Given the description of an element on the screen output the (x, y) to click on. 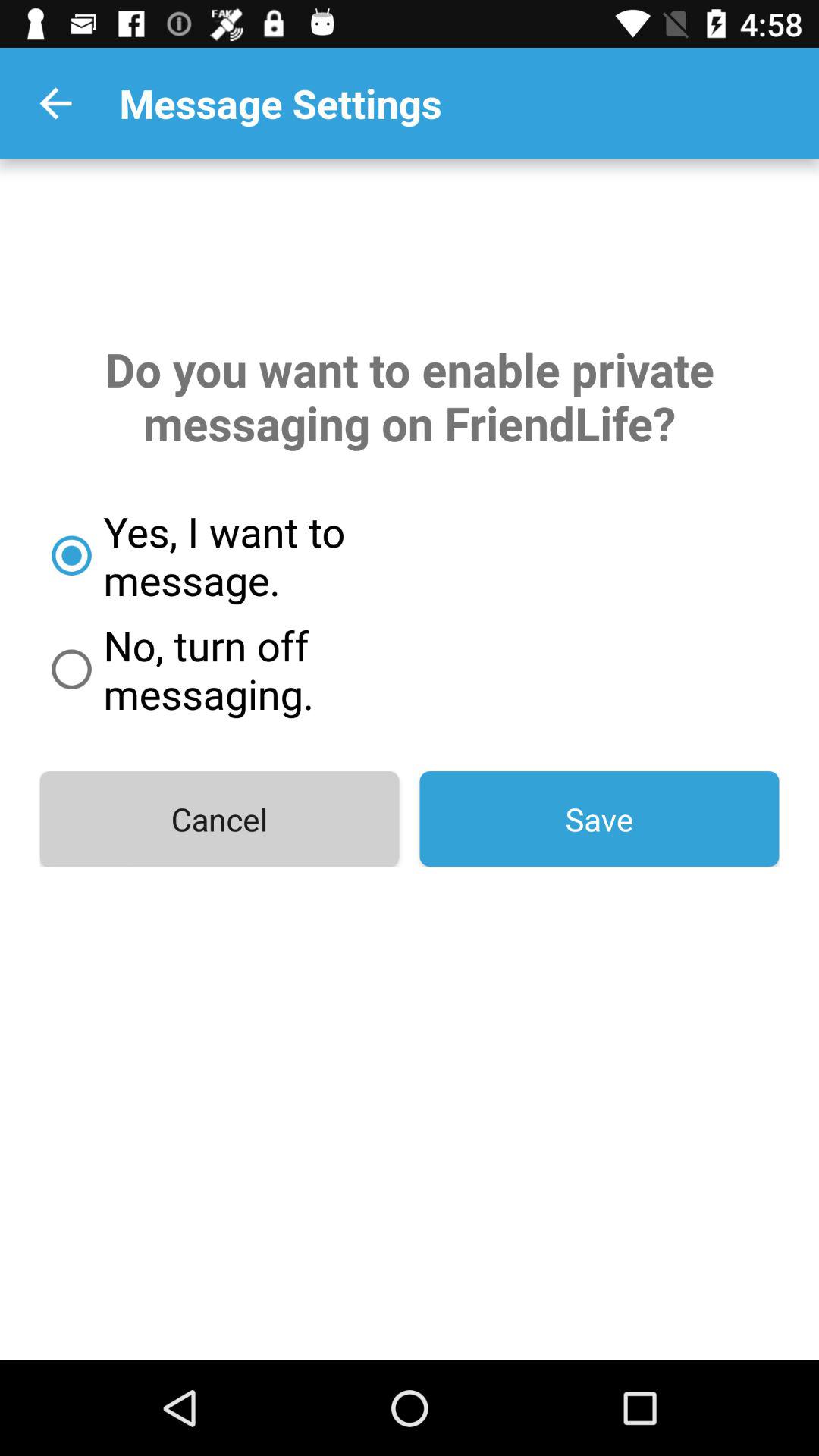
tap save (599, 818)
